Given the description of an element on the screen output the (x, y) to click on. 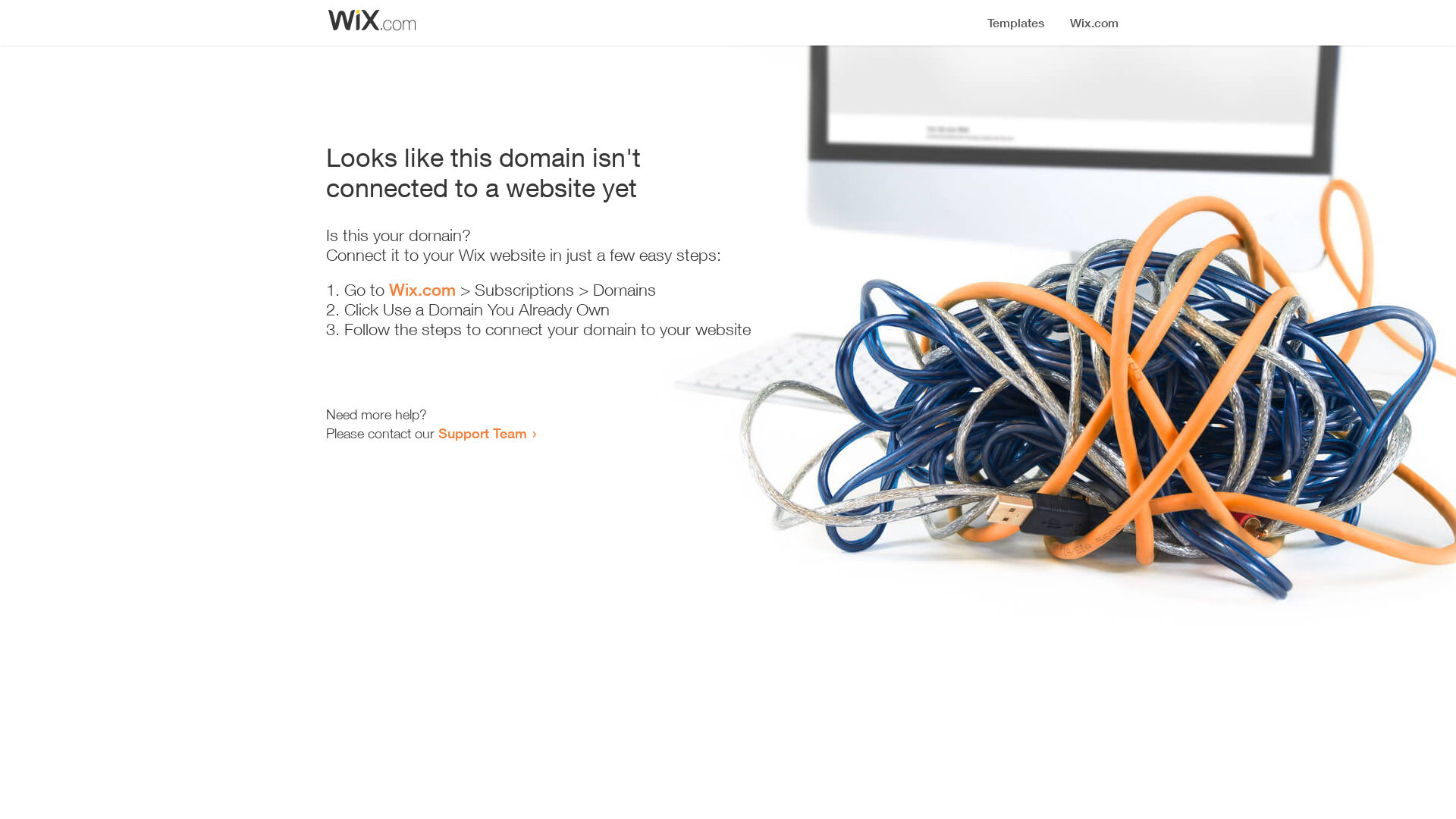
Support Team Element type: text (482, 432)
Wix.com Element type: text (422, 289)
